Given the description of an element on the screen output the (x, y) to click on. 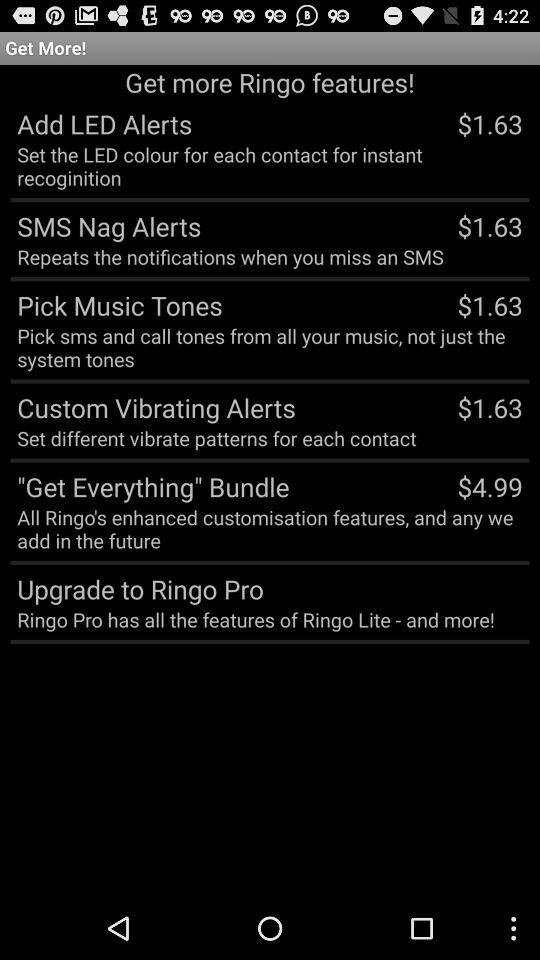
open the item below the pick sms and (152, 407)
